Given the description of an element on the screen output the (x, y) to click on. 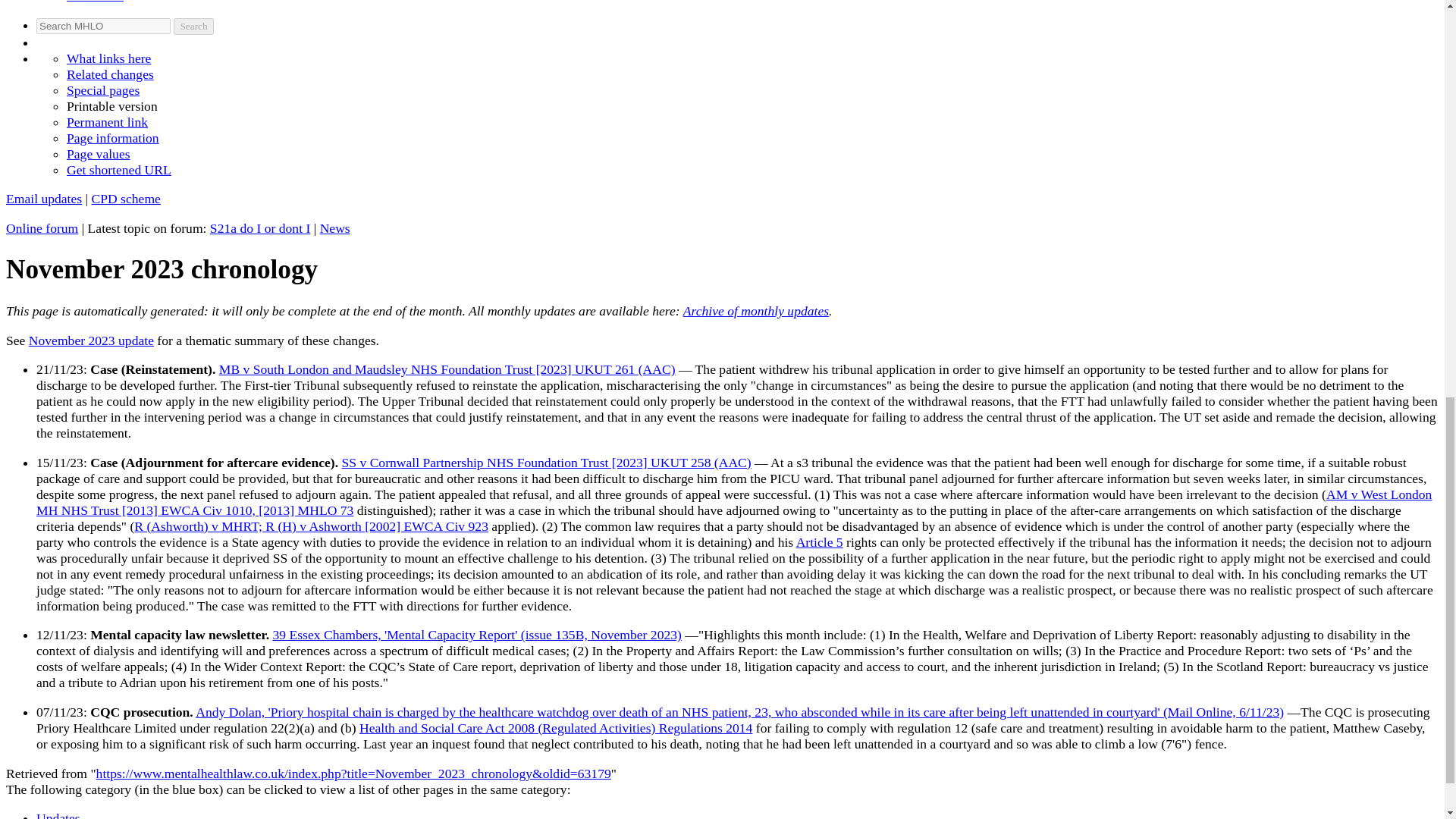
Archive of monthly updates (755, 310)
November 2023 update (91, 340)
Permanent link to this revision of this page (107, 121)
CPD scheme (125, 198)
More information about this page (112, 137)
